Given the description of an element on the screen output the (x, y) to click on. 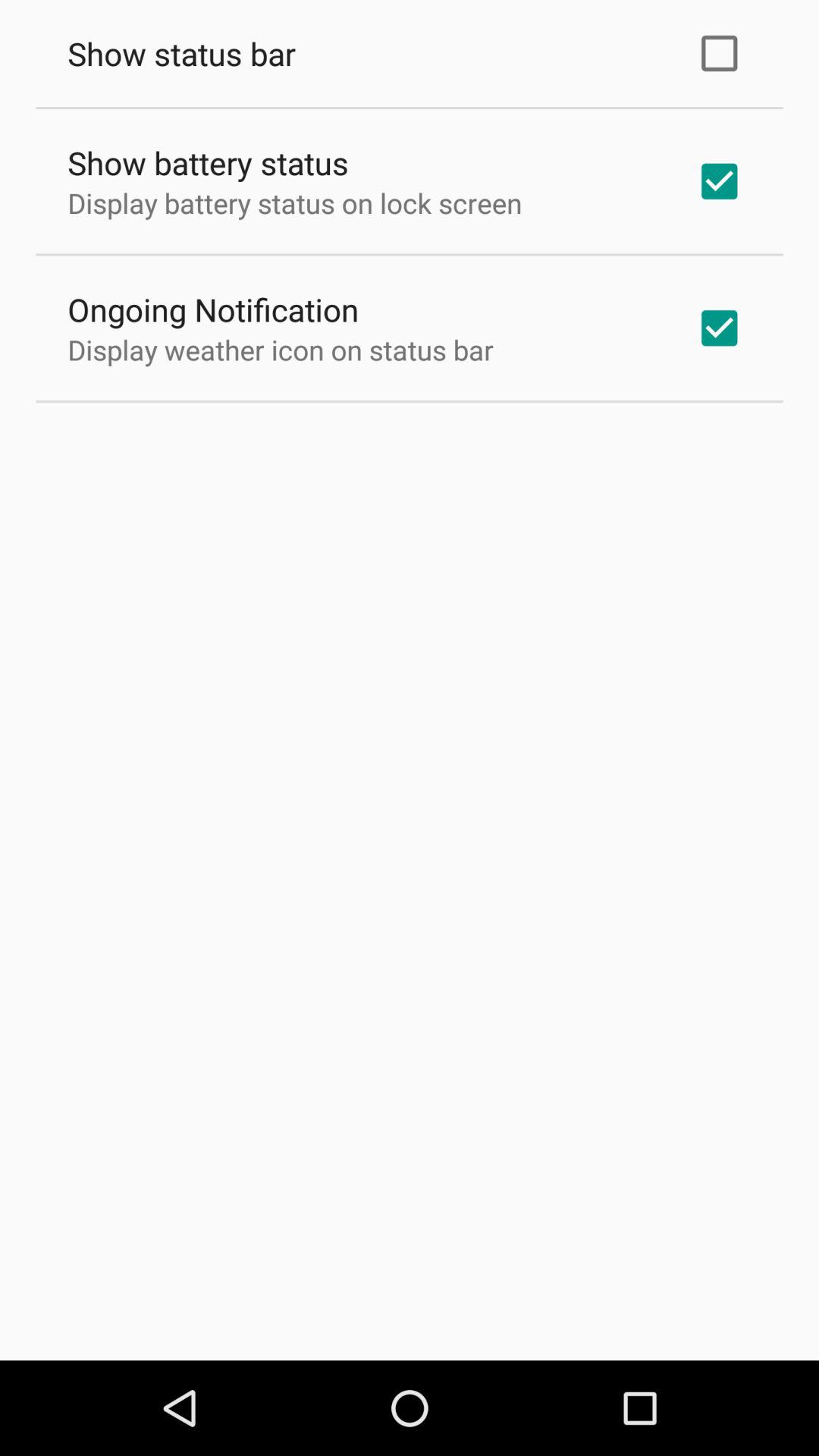
turn off the icon below ongoing notification item (280, 349)
